Given the description of an element on the screen output the (x, y) to click on. 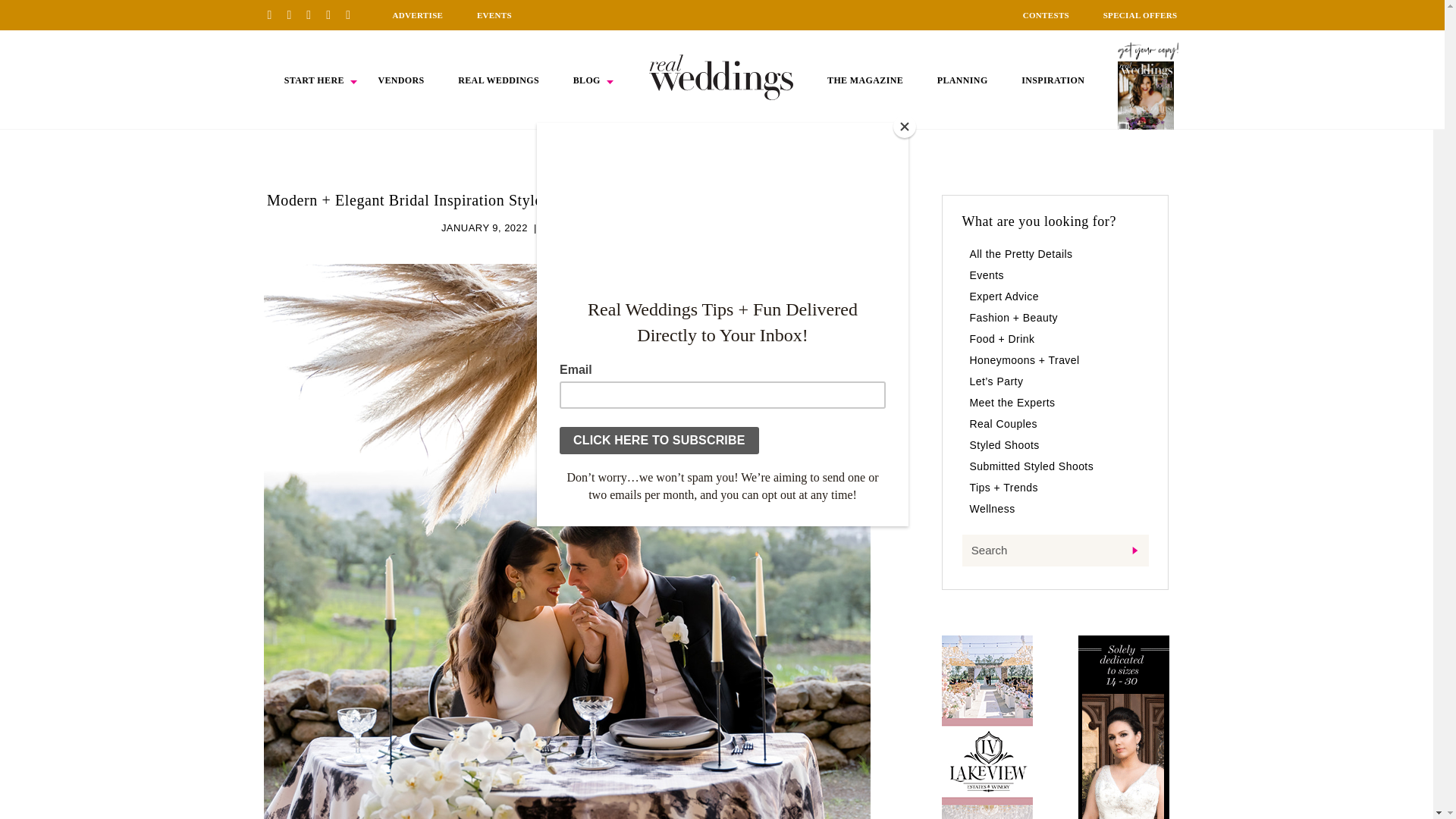
VENDORS (400, 80)
Search (1054, 550)
REAL WEDDINGS (498, 80)
EVENTS (494, 14)
SPECIAL OFFERS (1140, 14)
START HERE (313, 80)
SUBMITTED STYLED SHOOTS (618, 227)
ADVERTISE (416, 14)
THE MAGAZINE (864, 80)
BLOG (586, 80)
INSPIRATION (1053, 80)
PLANNING (962, 80)
Twitter (334, 14)
Pinterest (274, 14)
YouTube (353, 14)
